Given the description of an element on the screen output the (x, y) to click on. 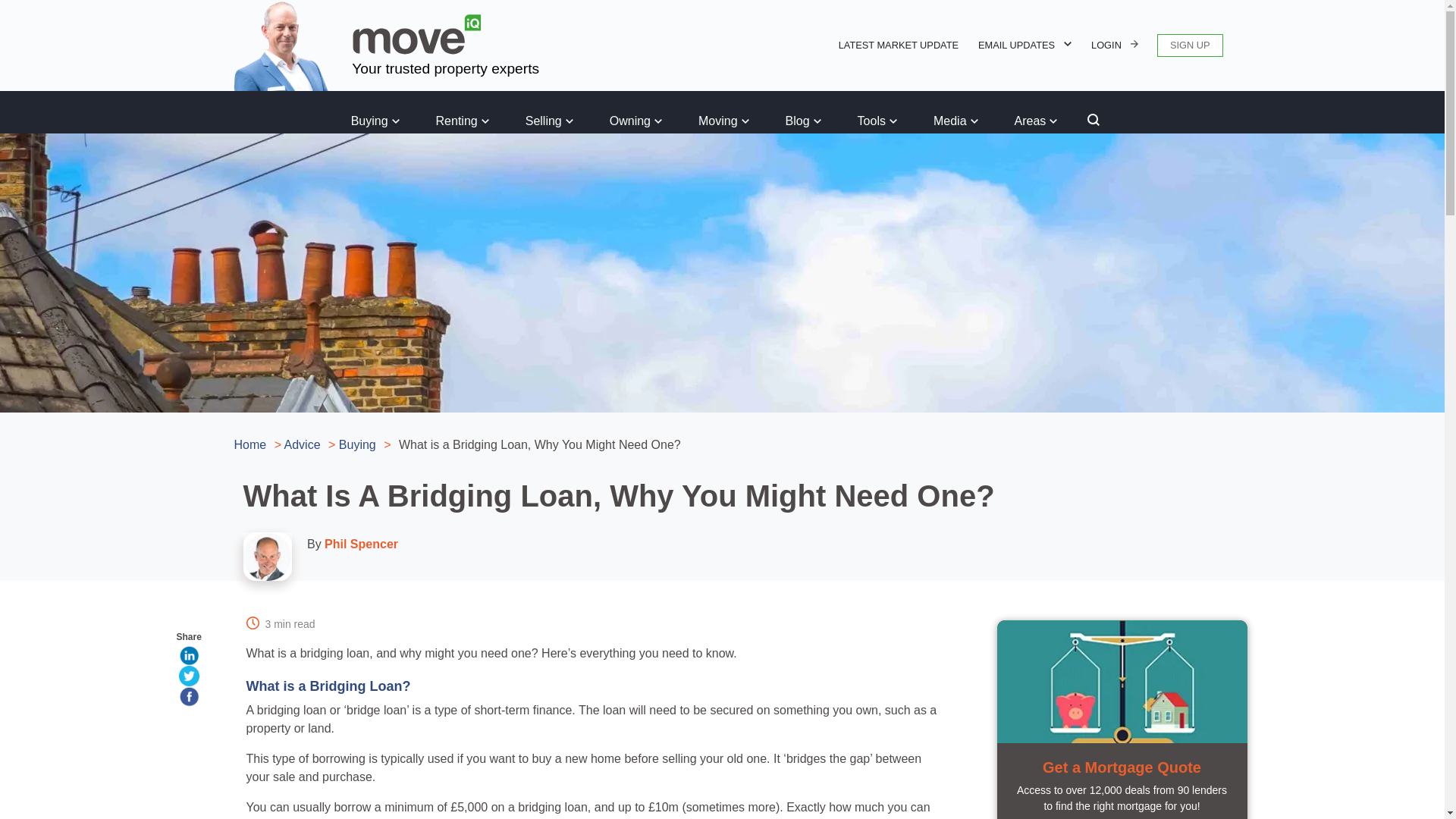
Share on Facebook (188, 696)
LATEST MARKET UPDATE (898, 45)
LOGIN (1114, 45)
Go back to the homepage (277, 43)
Buying (375, 120)
SIGN UP (1190, 45)
Share on Linkedin (188, 655)
EMAIL UPDATES (1023, 45)
Go back to the homepage (416, 34)
Share on Twitter (188, 675)
